Given the description of an element on the screen output the (x, y) to click on. 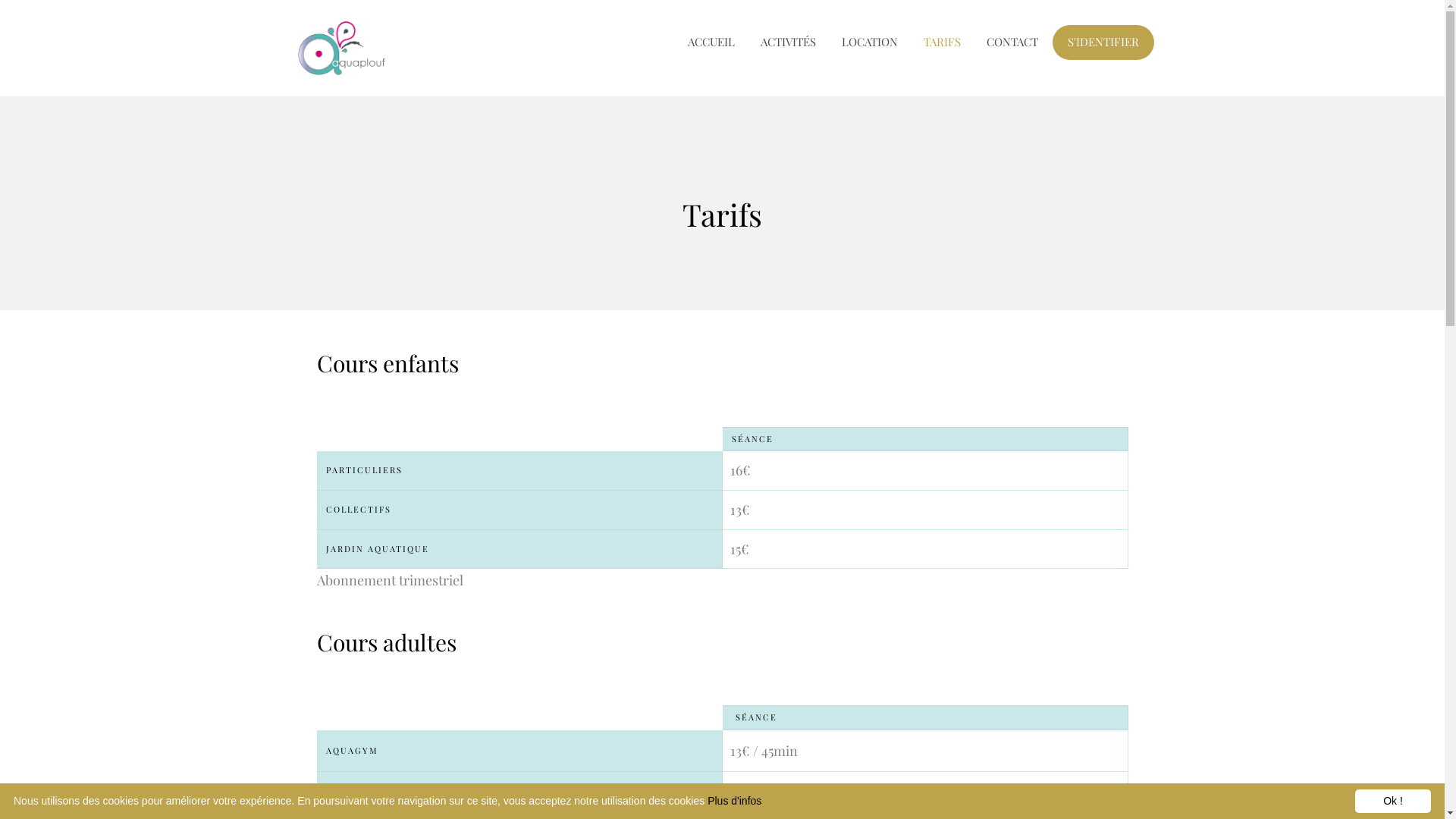
S'IDENTIFIER Element type: text (1103, 41)
LOCATION Element type: text (869, 41)
TARIFS Element type: text (942, 41)
CONTACT Element type: text (1012, 41)
ACCUEIL Element type: text (711, 41)
Plus d'infos Element type: text (734, 800)
